Given the description of an element on the screen output the (x, y) to click on. 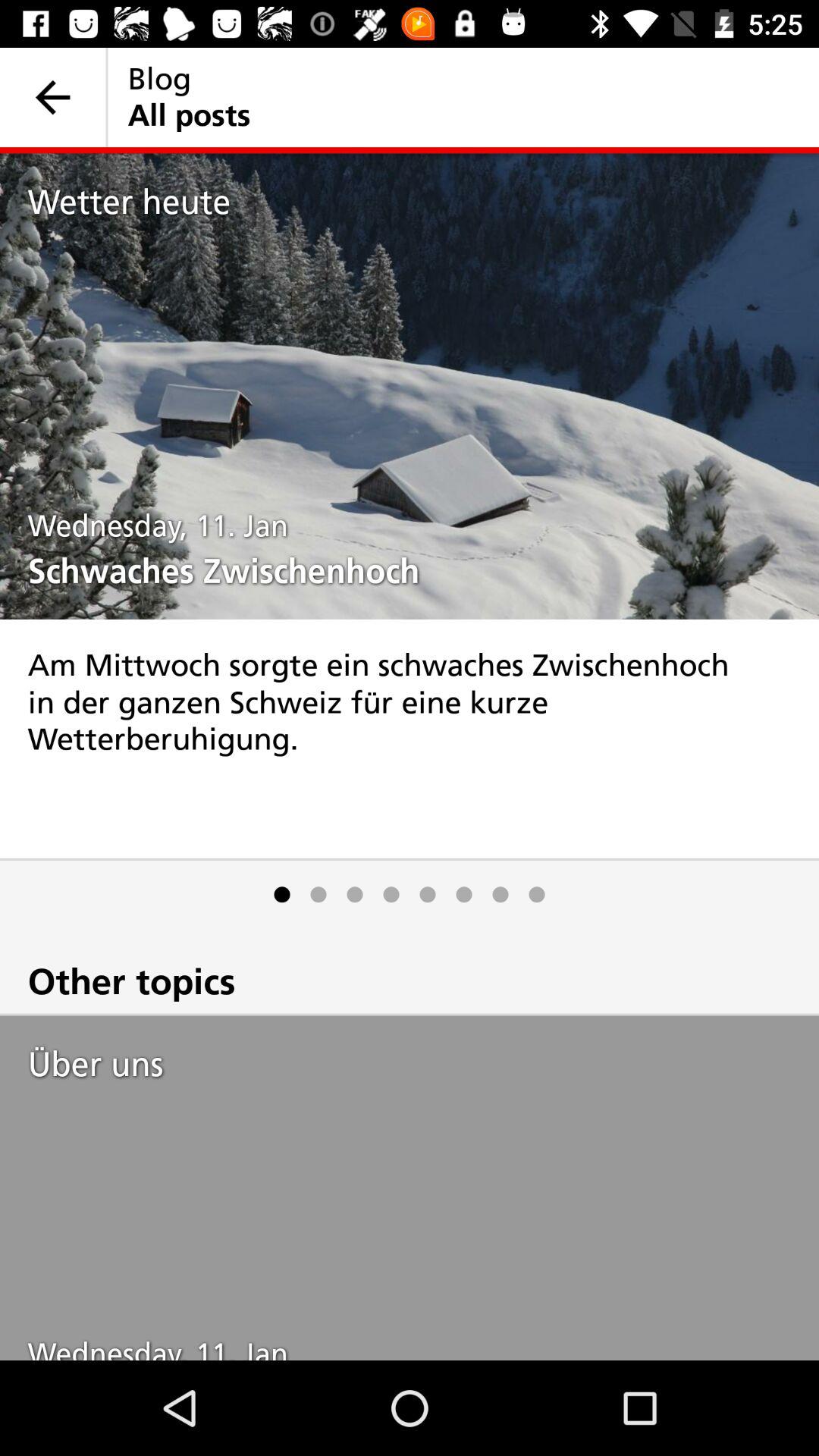
select item above the wednesday, 11. jan item (423, 201)
